Given the description of an element on the screen output the (x, y) to click on. 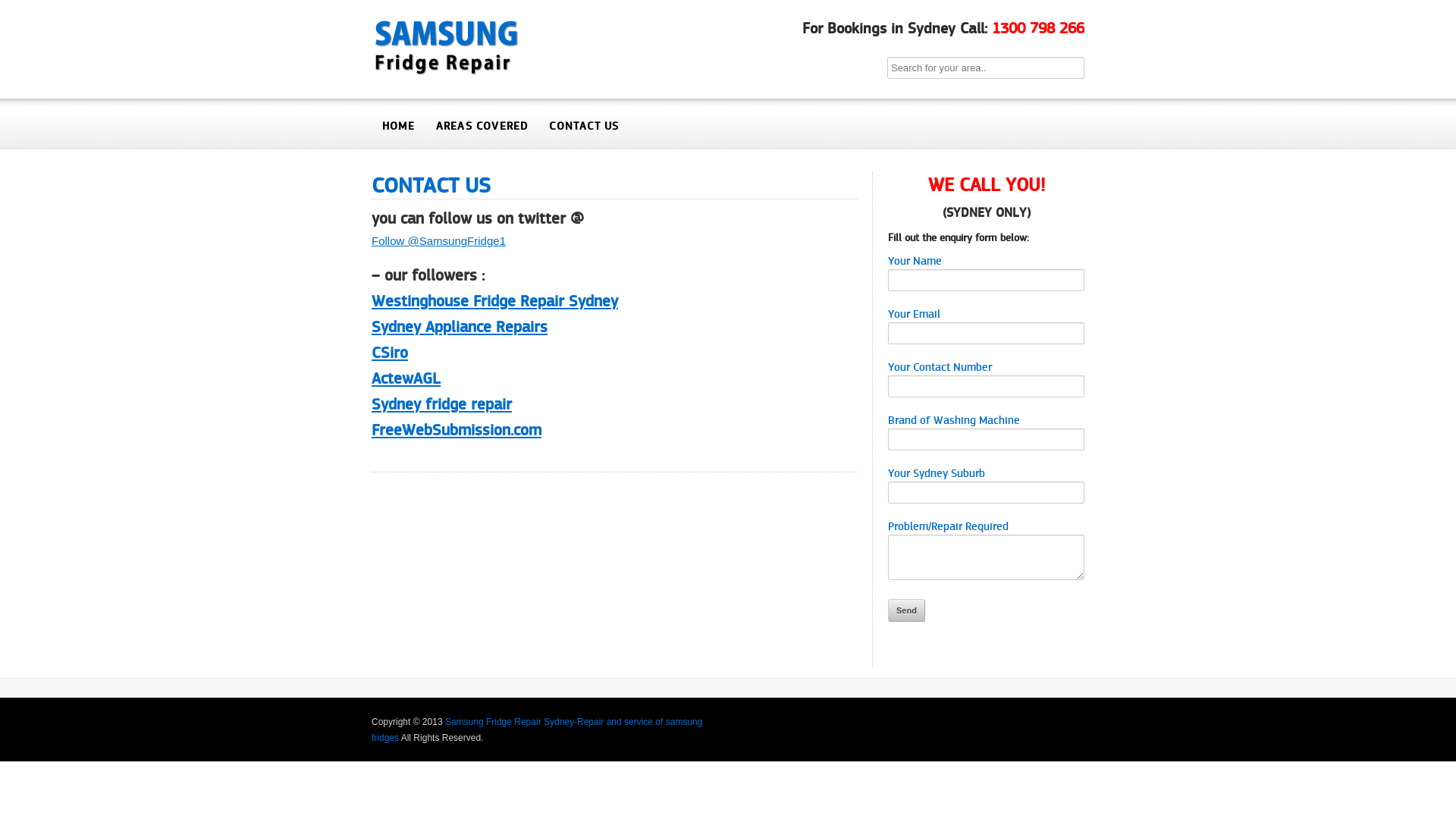
Sydney Appliance Repairs Element type: text (459, 326)
Follow @SamsungFridge1 Element type: text (438, 240)
FreeWebSubmission.com Element type: text (456, 429)
HOME Element type: text (398, 125)
ActewAGL Element type: text (405, 378)
CONTACT US Element type: text (583, 125)
Send Element type: text (906, 610)
Westinghouse Fridge Repair Sydney Element type: text (494, 300)
AREAS COVERED Element type: text (482, 125)
CONTACT US Element type: text (430, 184)
Sydney fridge repair Element type: text (441, 404)
1300 798 266 Element type: text (1037, 28)
Search Element type: text (22, 11)
CSiro Element type: text (389, 352)
